Given the description of an element on the screen output the (x, y) to click on. 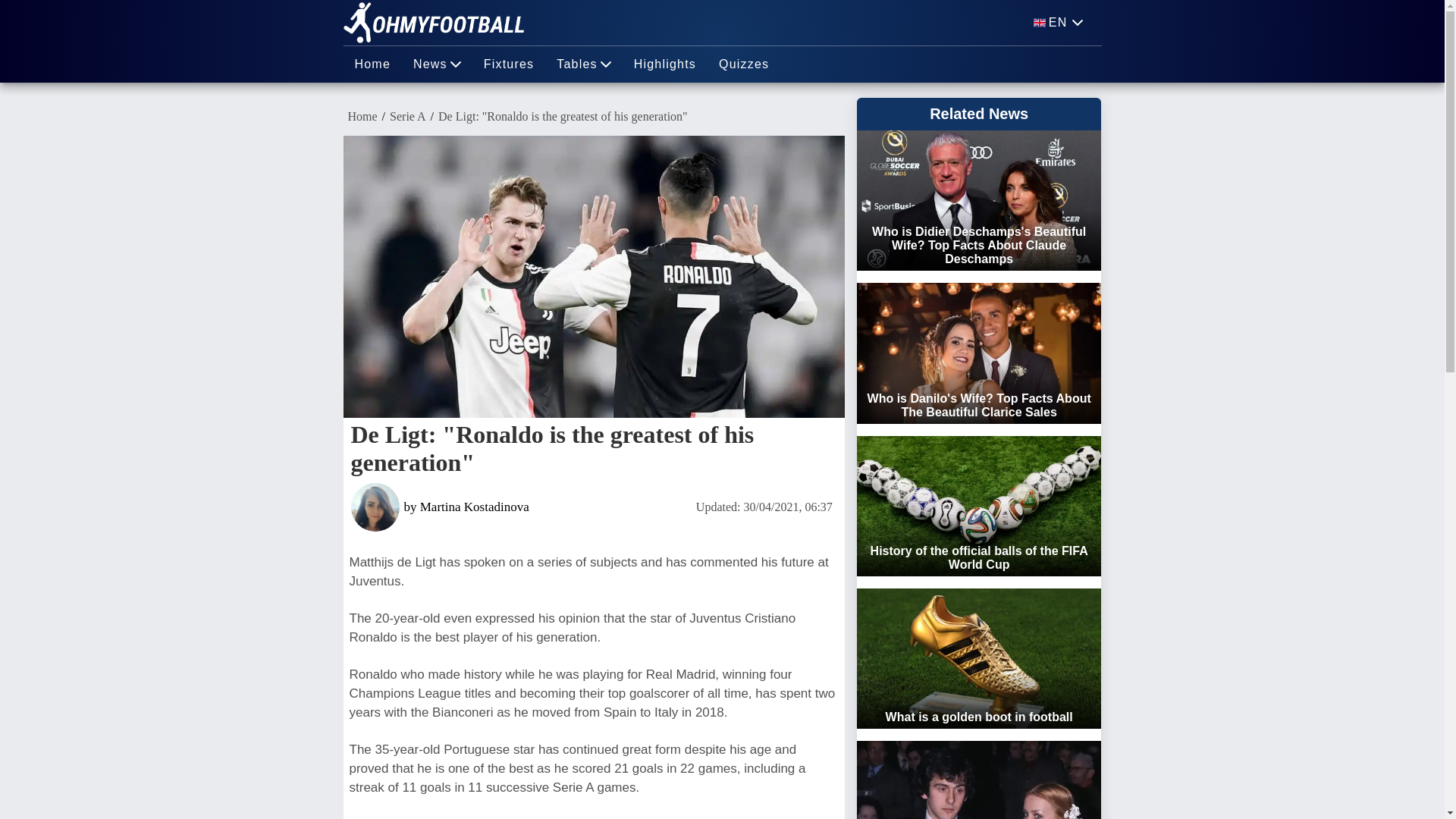
EN (1058, 22)
Tables (582, 63)
Fixtures (508, 63)
News (436, 63)
Home (371, 63)
